Given the description of an element on the screen output the (x, y) to click on. 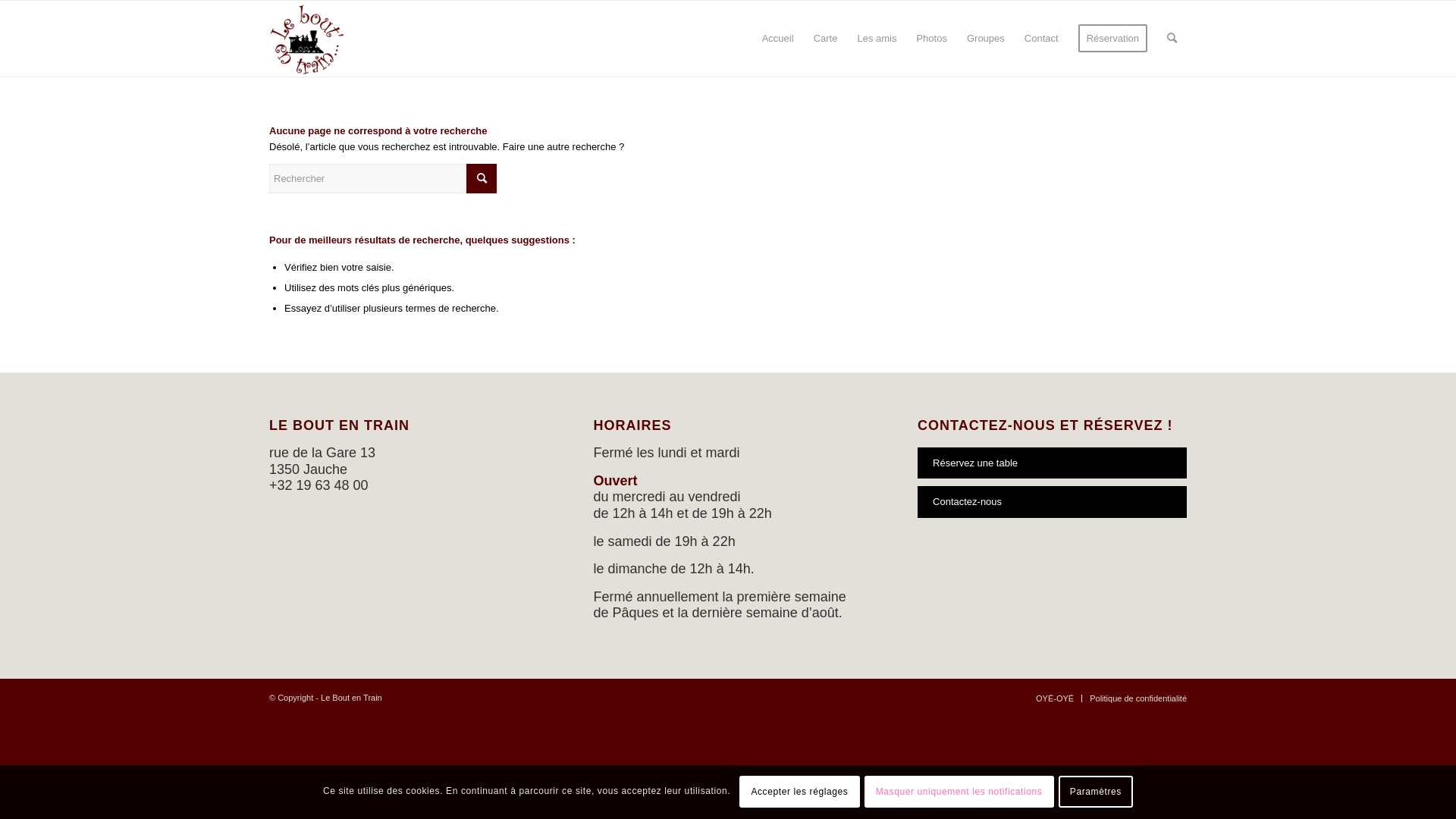
Accueil Element type: text (777, 38)
Contact Element type: text (1041, 38)
logo-bout-en-train Element type: hover (307, 38)
Masquer uniquement les notifications Element type: text (959, 791)
Carte Element type: text (825, 38)
Contactez-nous Element type: text (1051, 501)
Groupes Element type: text (985, 38)
Les amis Element type: text (876, 38)
Photos Element type: text (931, 38)
